Given the description of an element on the screen output the (x, y) to click on. 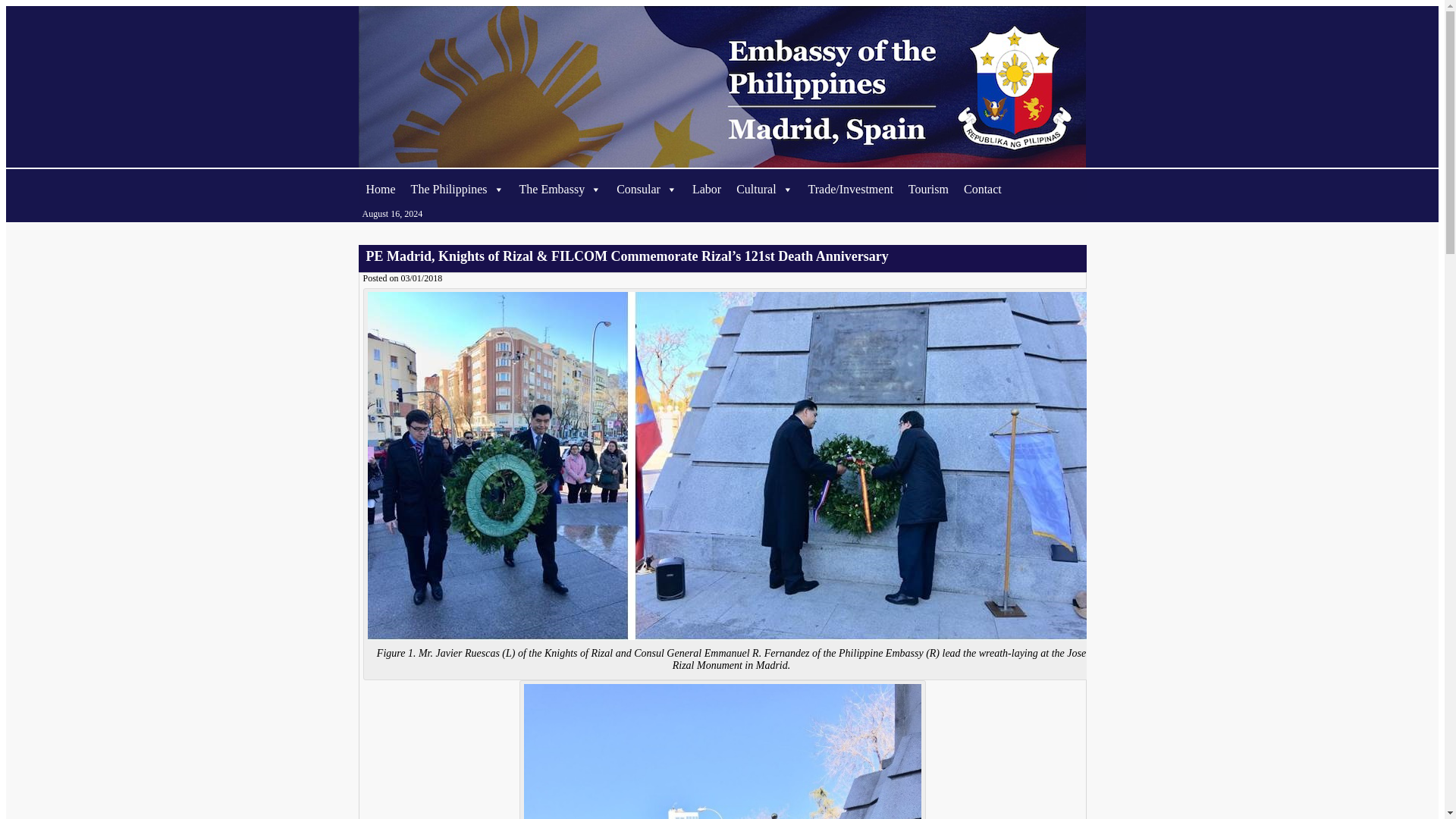
The Philippines (457, 189)
The Embassy (559, 189)
Home (380, 189)
Consular (646, 189)
Tourism (928, 189)
Labor (706, 189)
Cultural (764, 189)
Contact (982, 189)
